Given the description of an element on the screen output the (x, y) to click on. 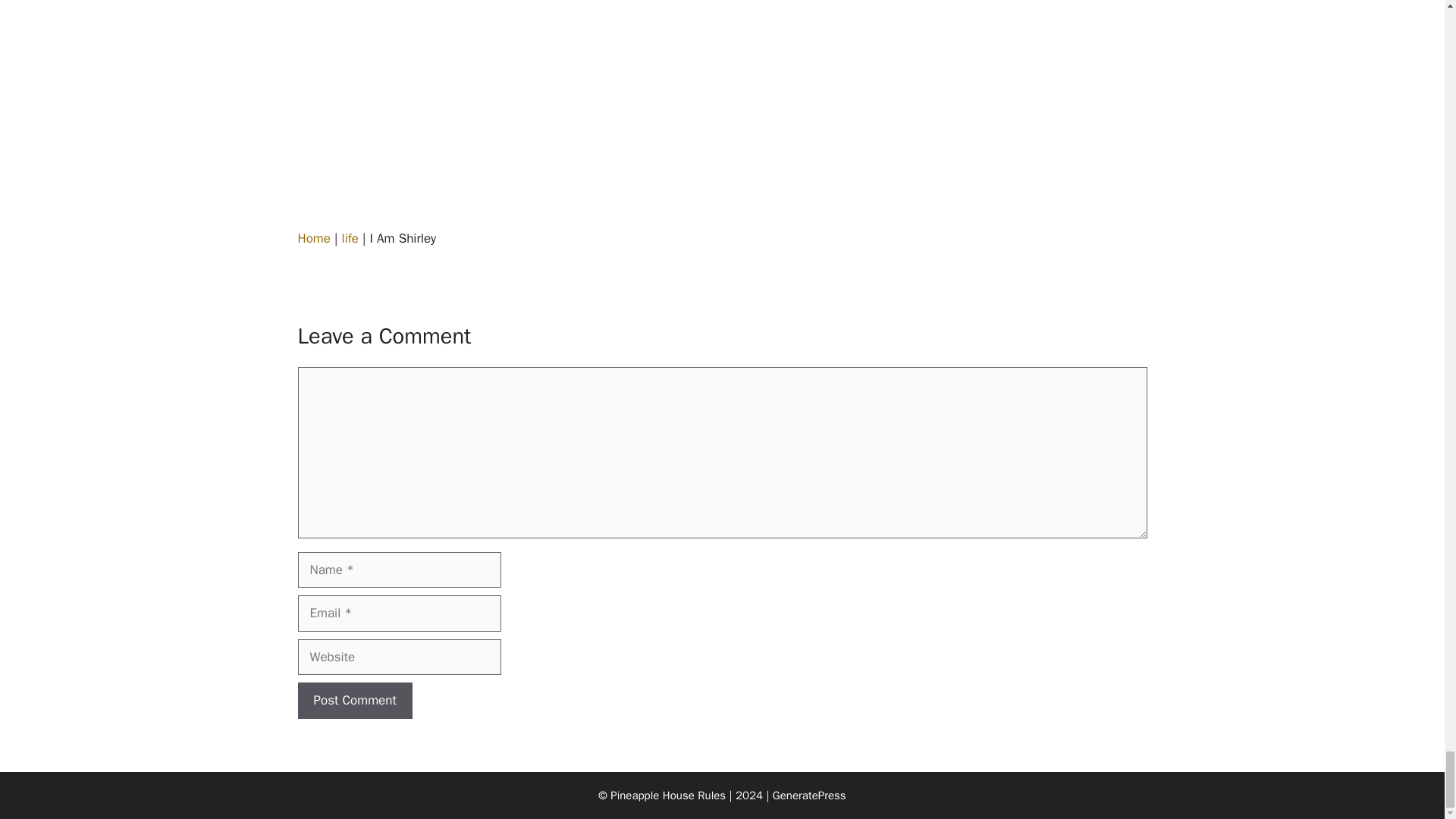
life (350, 238)
Post Comment (354, 700)
Post Comment (354, 700)
Home (313, 238)
